Given the description of an element on the screen output the (x, y) to click on. 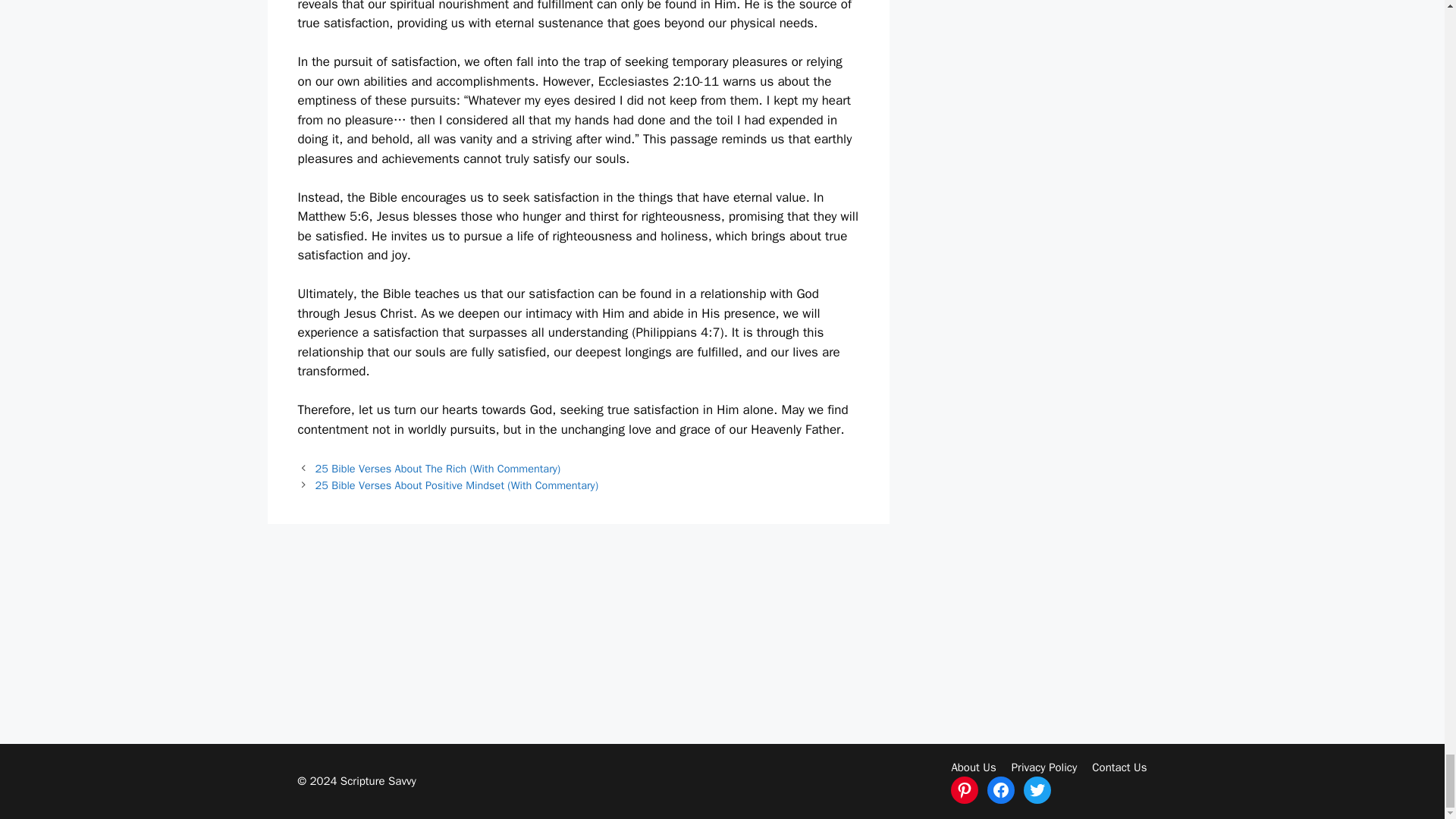
About Us (972, 766)
Contact Us (1119, 766)
Facebook (1000, 789)
Pinterest (964, 789)
Twitter (1037, 789)
Privacy Policy (1044, 766)
